Given the description of an element on the screen output the (x, y) to click on. 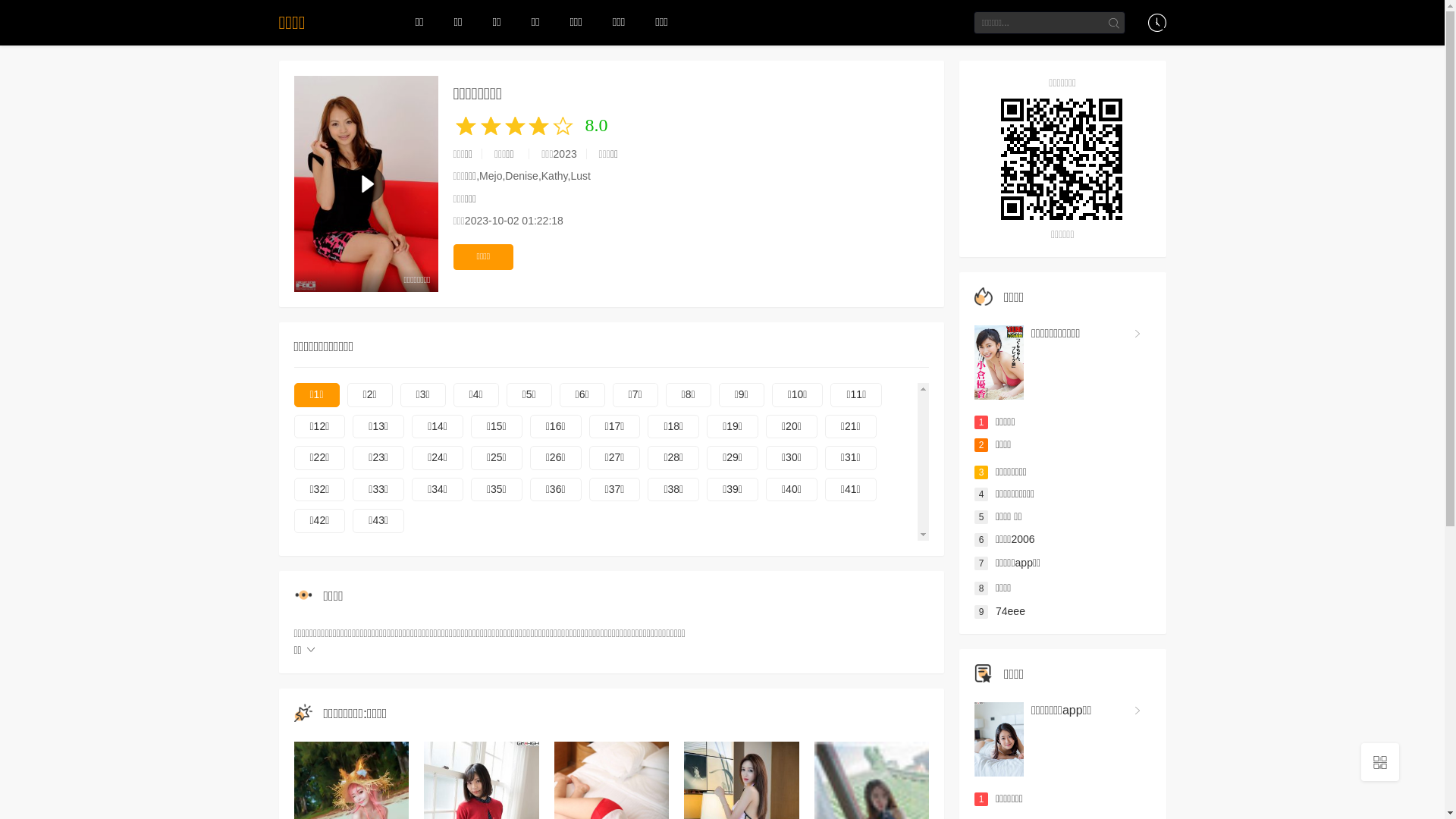
https://www.39mc.com/cn/list20.html Element type: hover (1062, 158)
974eee Element type: text (999, 611)
